Given the description of an element on the screen output the (x, y) to click on. 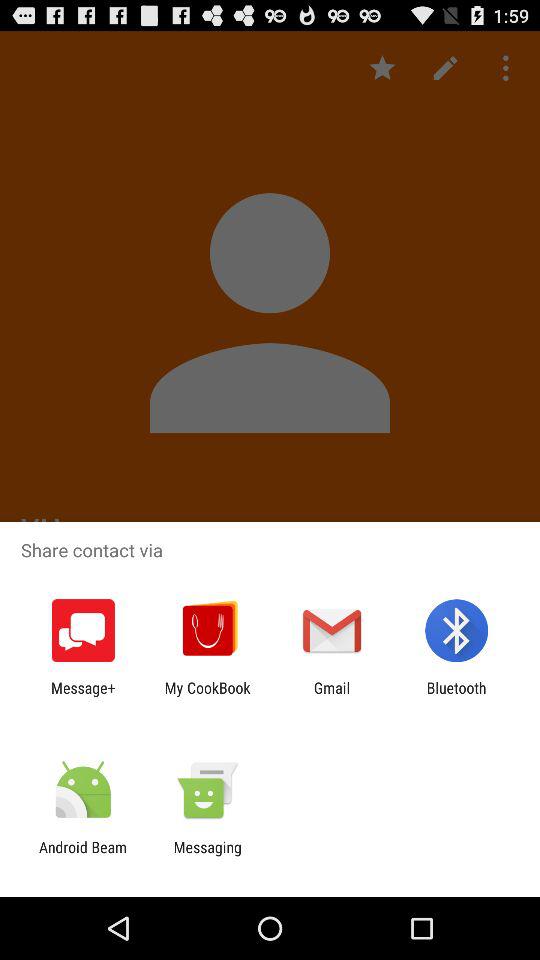
jump to the messaging (207, 856)
